Given the description of an element on the screen output the (x, y) to click on. 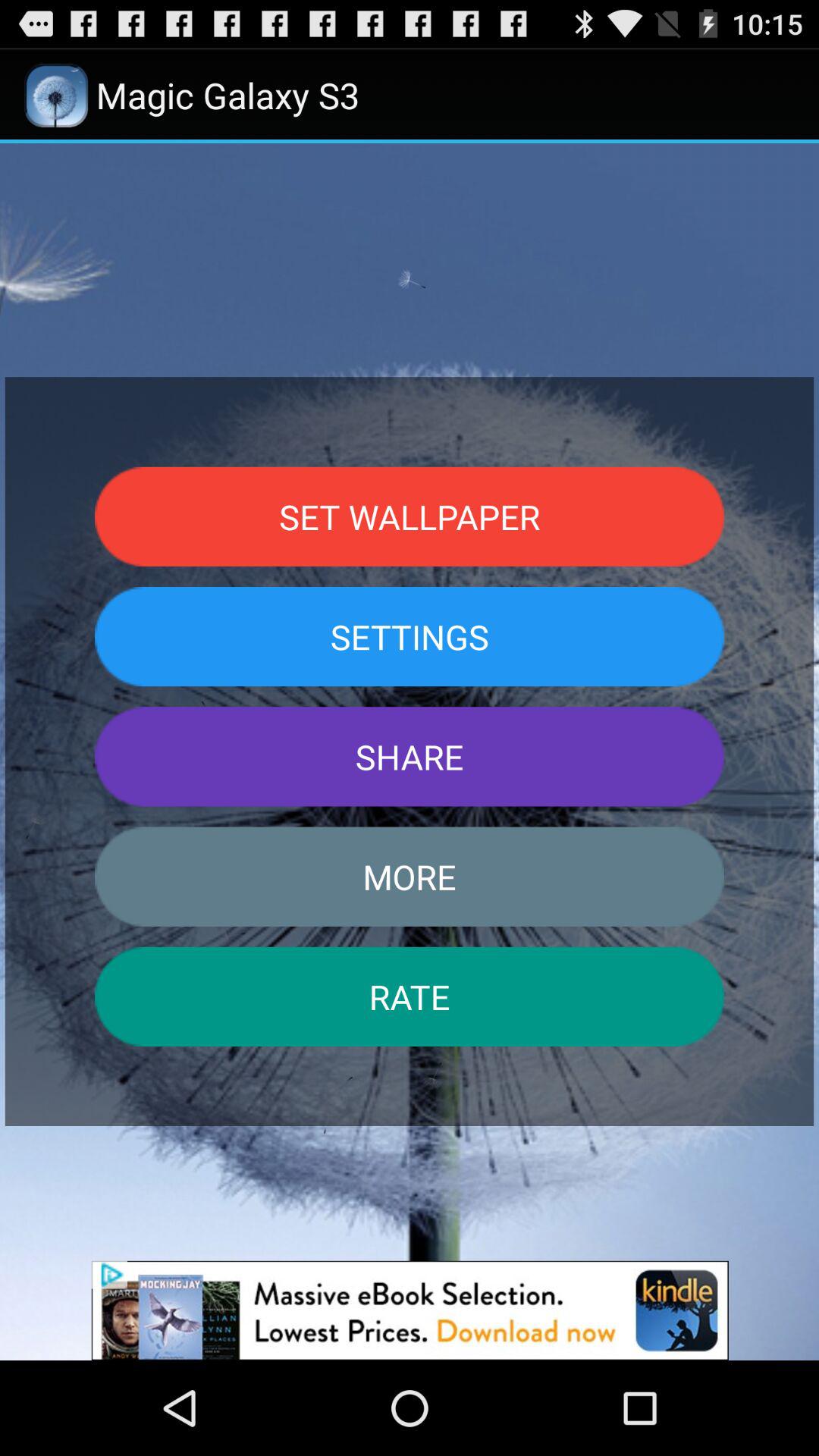
click button above share (409, 636)
